Given the description of an element on the screen output the (x, y) to click on. 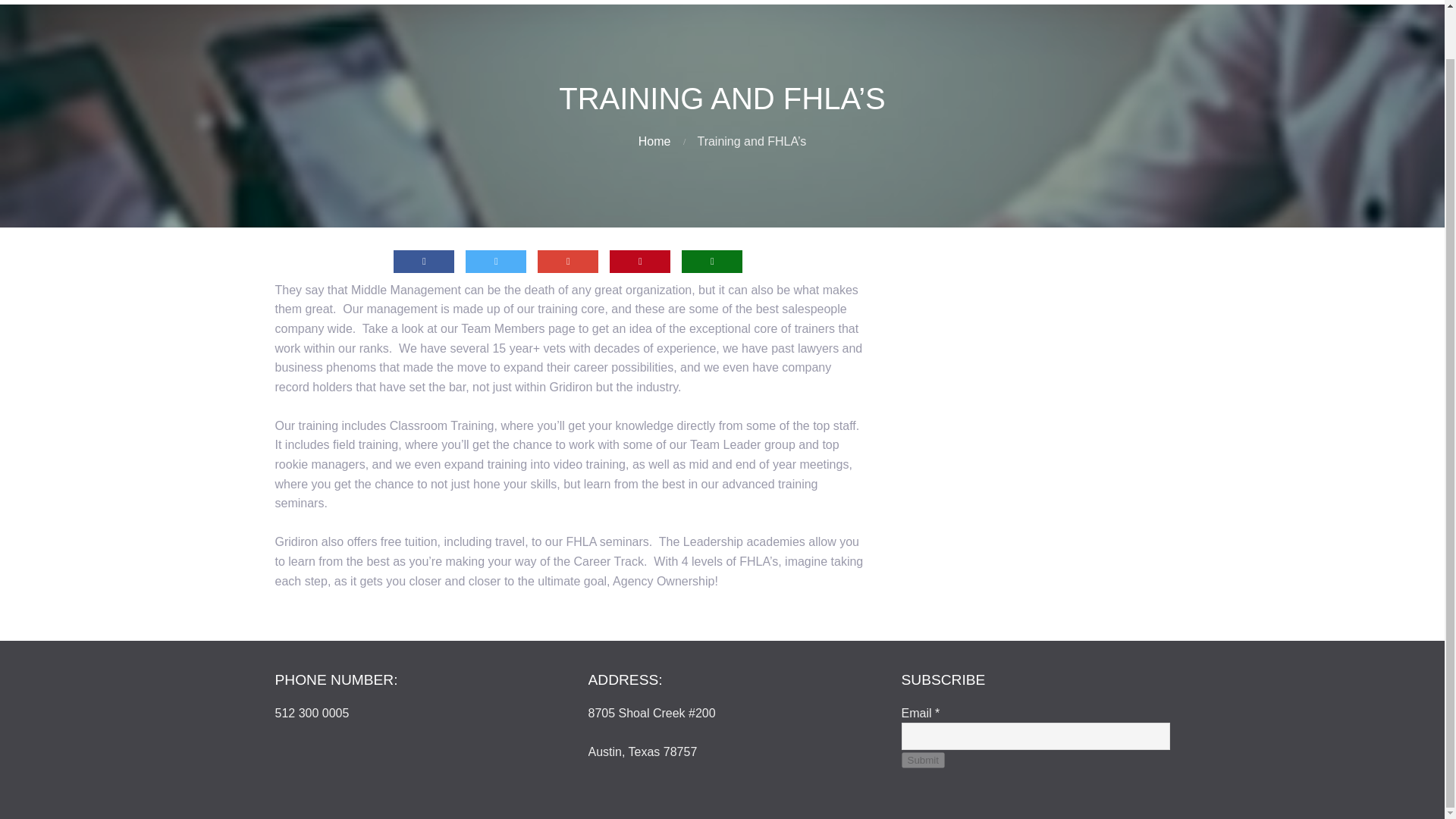
Submit (922, 760)
Home (655, 141)
